Given the description of an element on the screen output the (x, y) to click on. 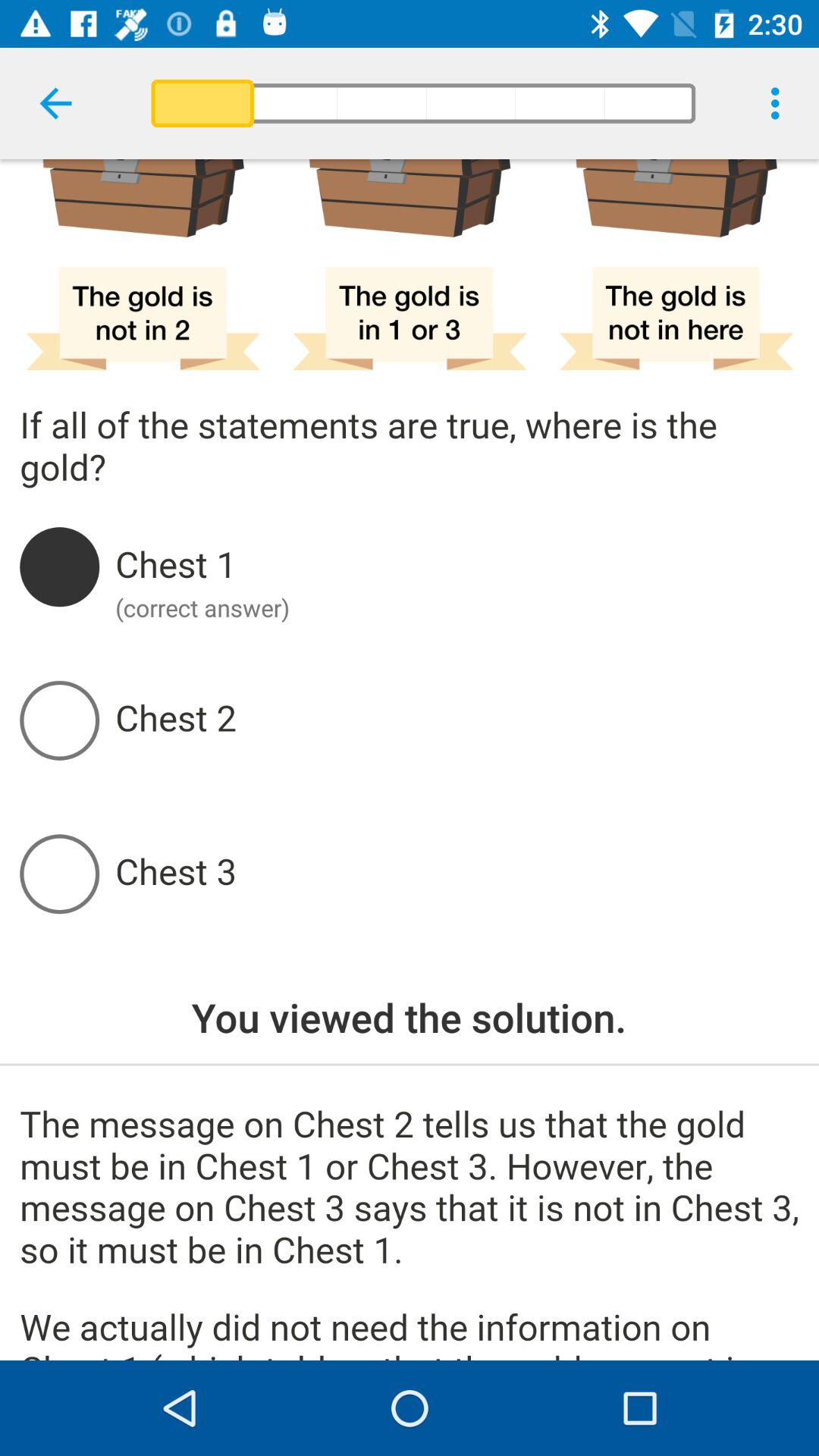
more information (409, 1232)
